Given the description of an element on the screen output the (x, y) to click on. 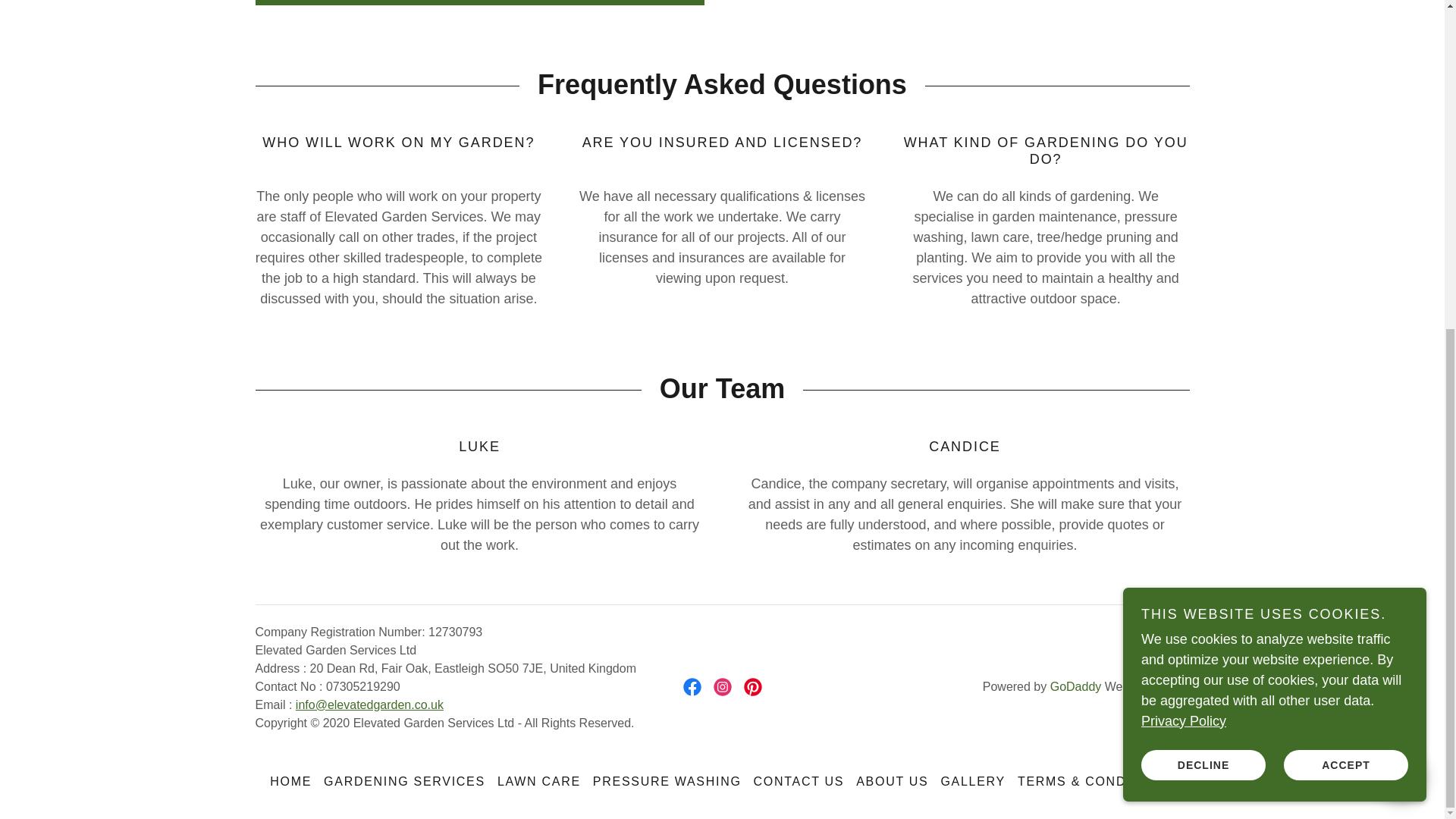
GALLERY (972, 781)
ABOUT US (892, 781)
CONTACT US (799, 781)
PRESSURE WASHING (667, 781)
GoDaddy (1075, 686)
HOME (290, 781)
GARDENING SERVICES (404, 781)
LAWN CARE (539, 781)
